Given the description of an element on the screen output the (x, y) to click on. 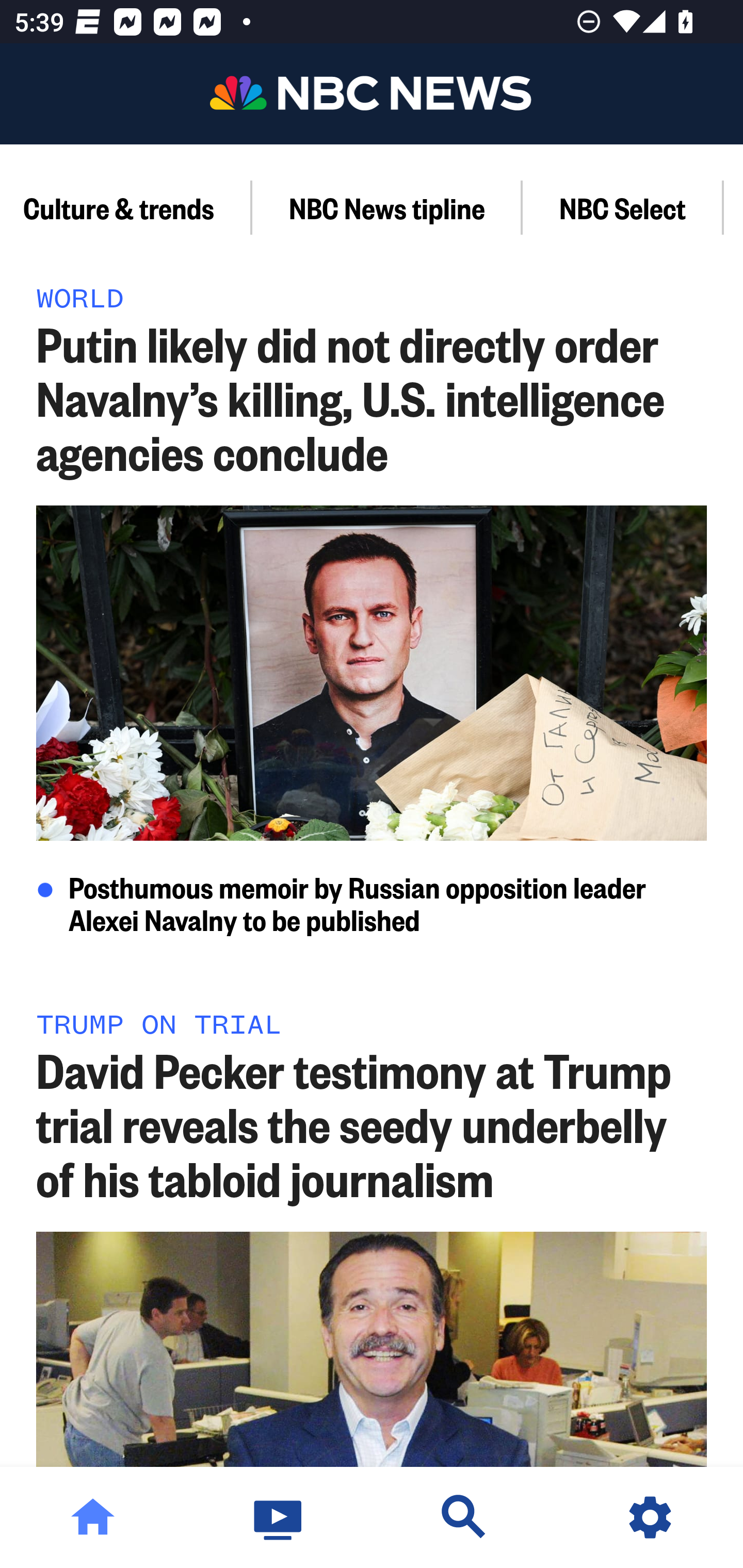
Culture & trends Section,Culture & trends (126, 207)
NBC News tipline (387, 207)
NBC Select Section,NBC Select (622, 207)
Watch (278, 1517)
Discover (464, 1517)
Settings (650, 1517)
